Given the description of an element on the screen output the (x, y) to click on. 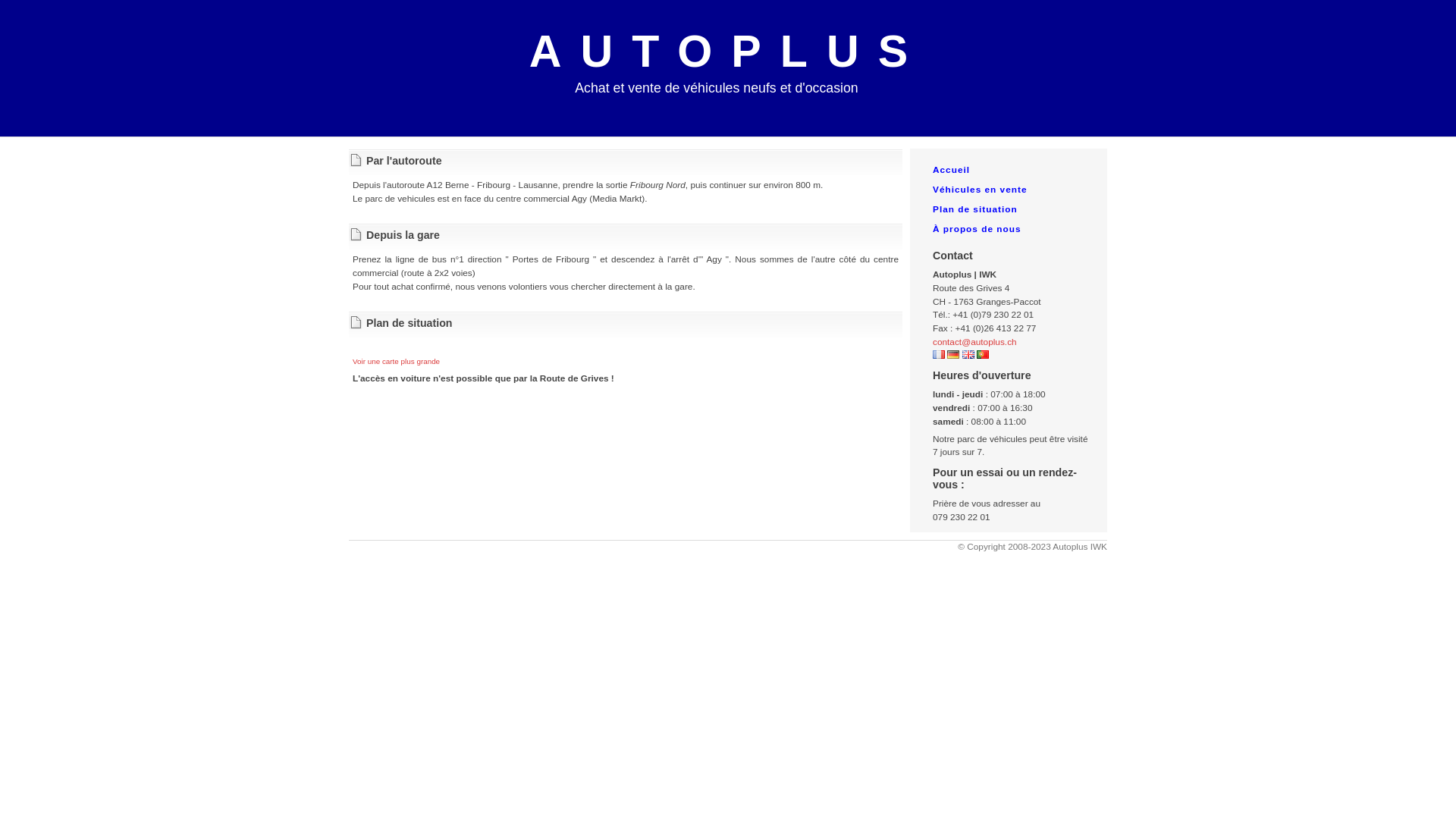
Plan de situation Element type: text (974, 208)
contact@autoplus.ch Element type: text (974, 341)
Voir une carte plus grande Element type: text (395, 361)
Accueil Element type: text (950, 169)
